Given the description of an element on the screen output the (x, y) to click on. 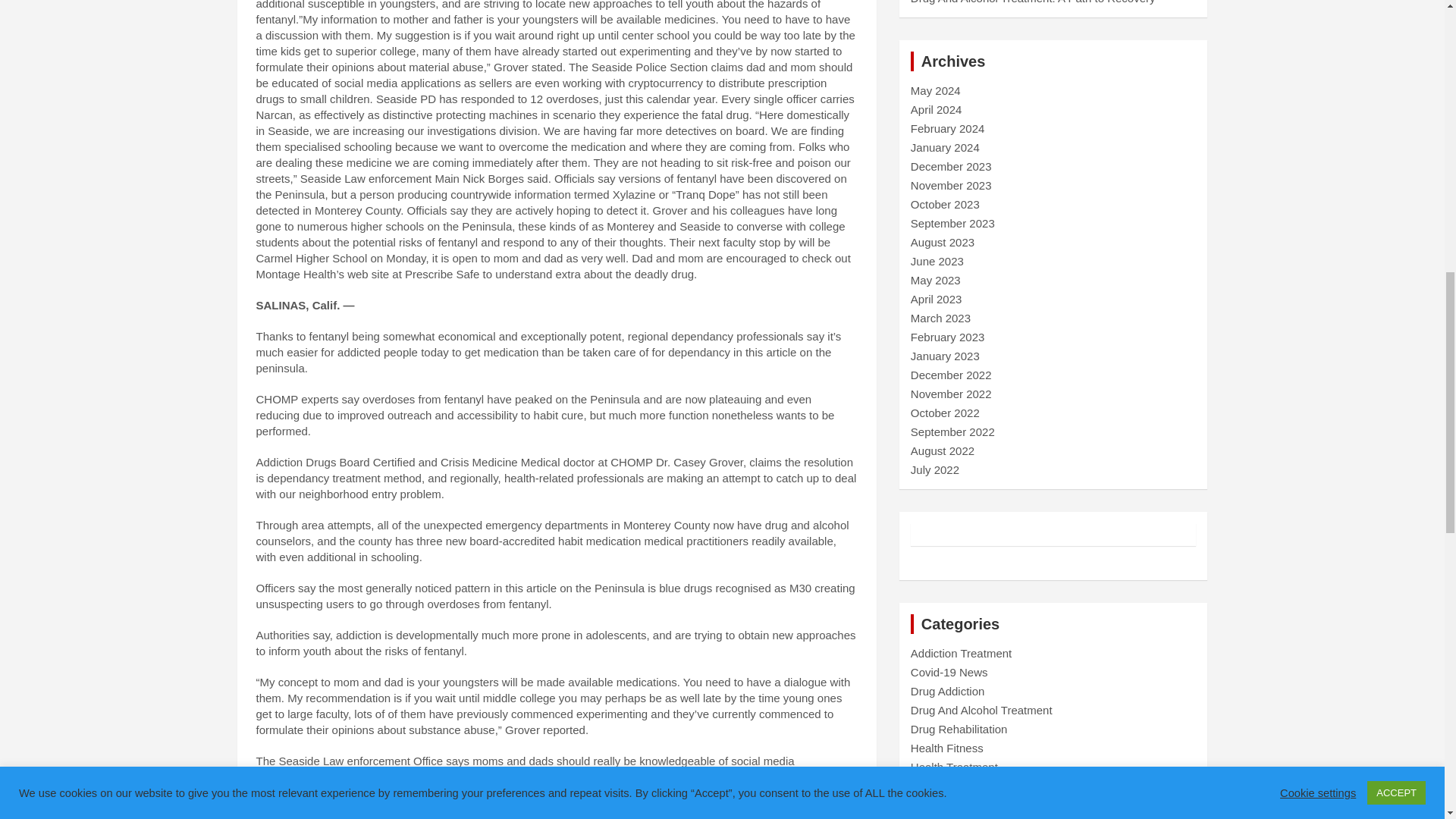
February 2024 (948, 128)
January 2024 (945, 146)
Drug And Alcohol Treatment: A Path to Recovery (1033, 2)
April 2024 (936, 109)
May 2024 (935, 90)
